Given the description of an element on the screen output the (x, y) to click on. 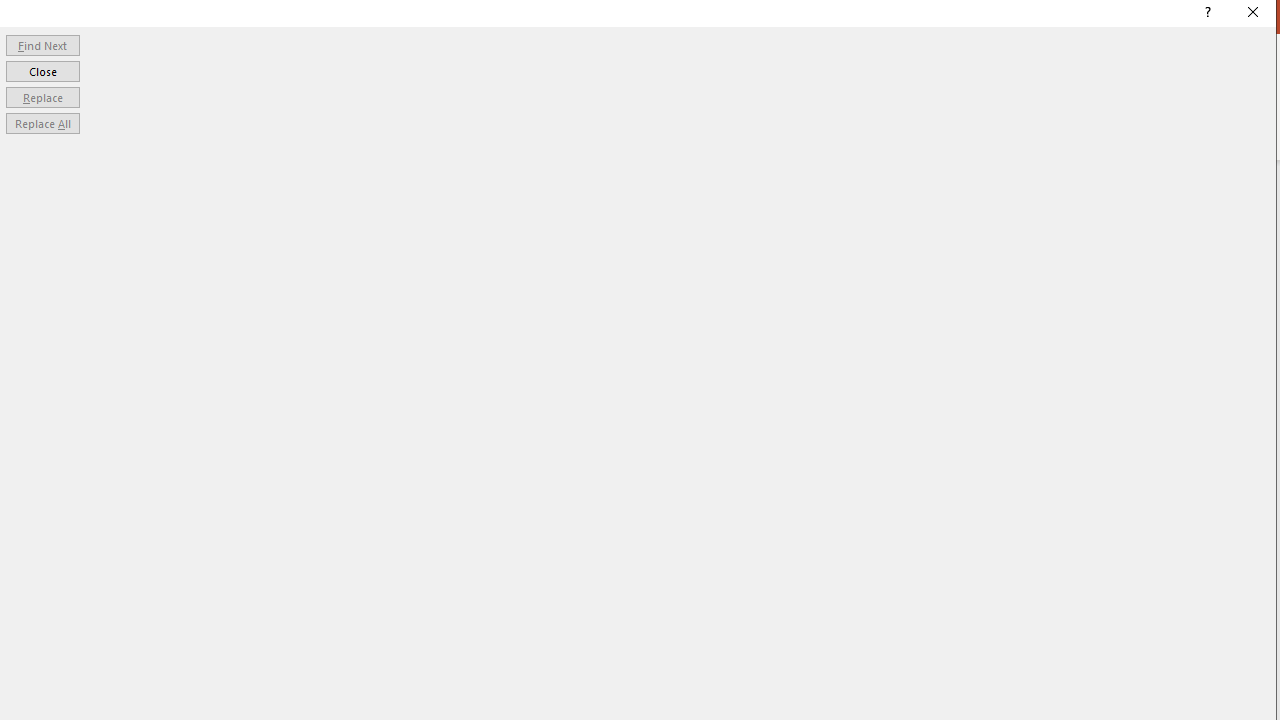
Replace (42, 96)
Replace All (42, 123)
Context help (1206, 14)
Find Next (42, 44)
